Given the description of an element on the screen output the (x, y) to click on. 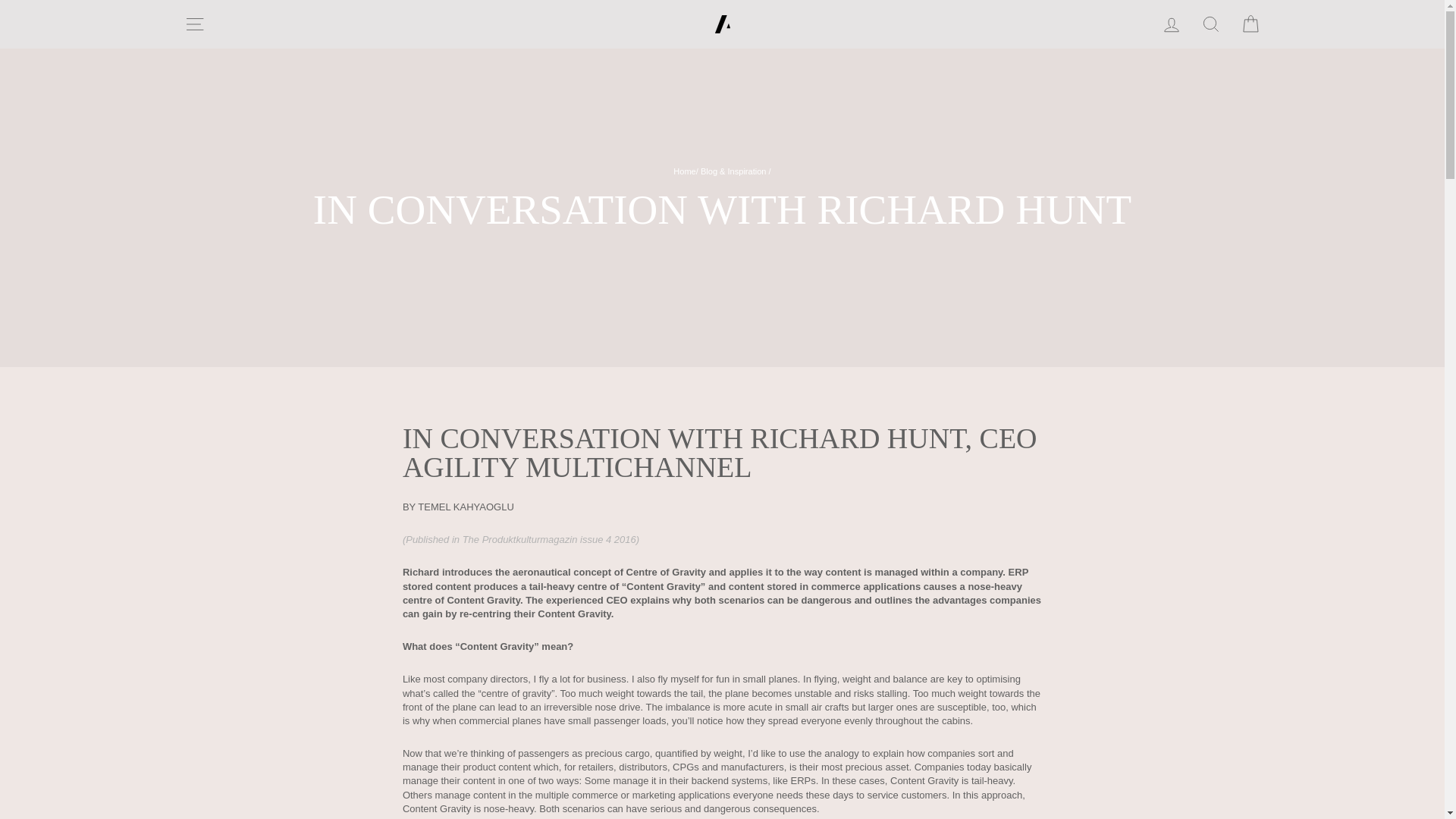
Back to the frontpage (683, 171)
